Given the description of an element on the screen output the (x, y) to click on. 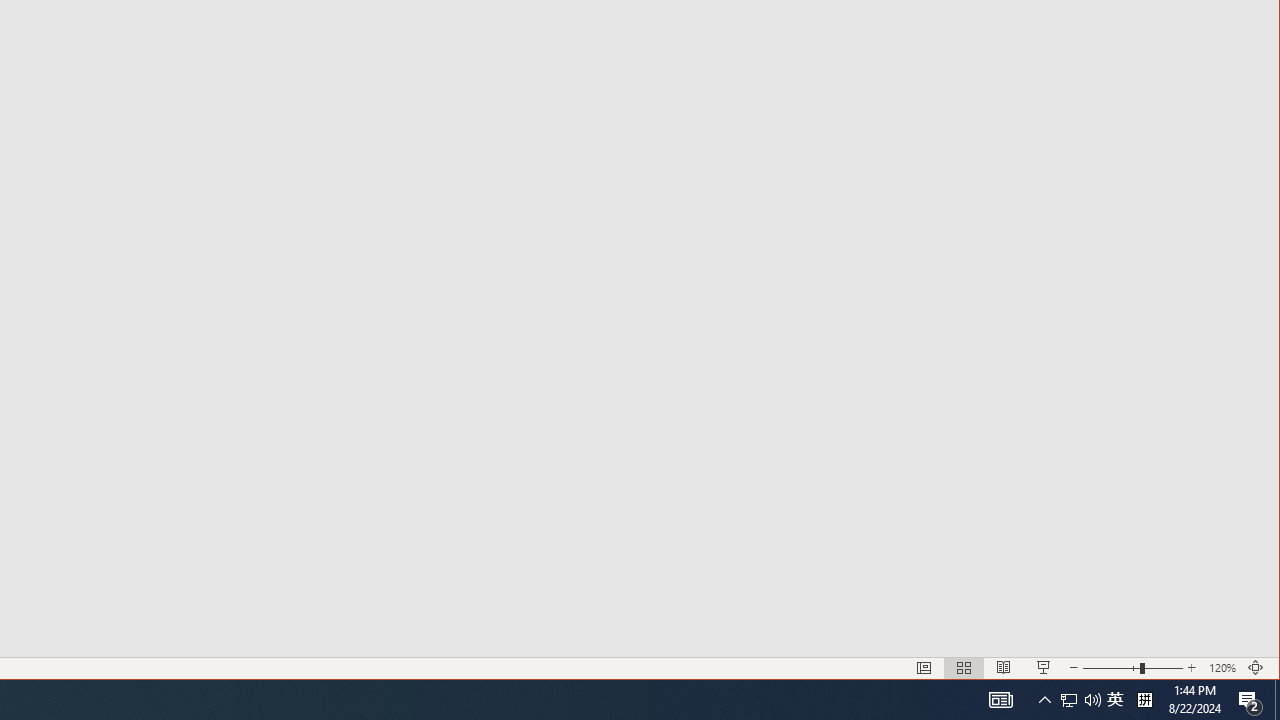
Action Center, 2 new notifications (1250, 699)
Tray Input Indicator - Chinese (Simplified, China) (1144, 699)
